Given the description of an element on the screen output the (x, y) to click on. 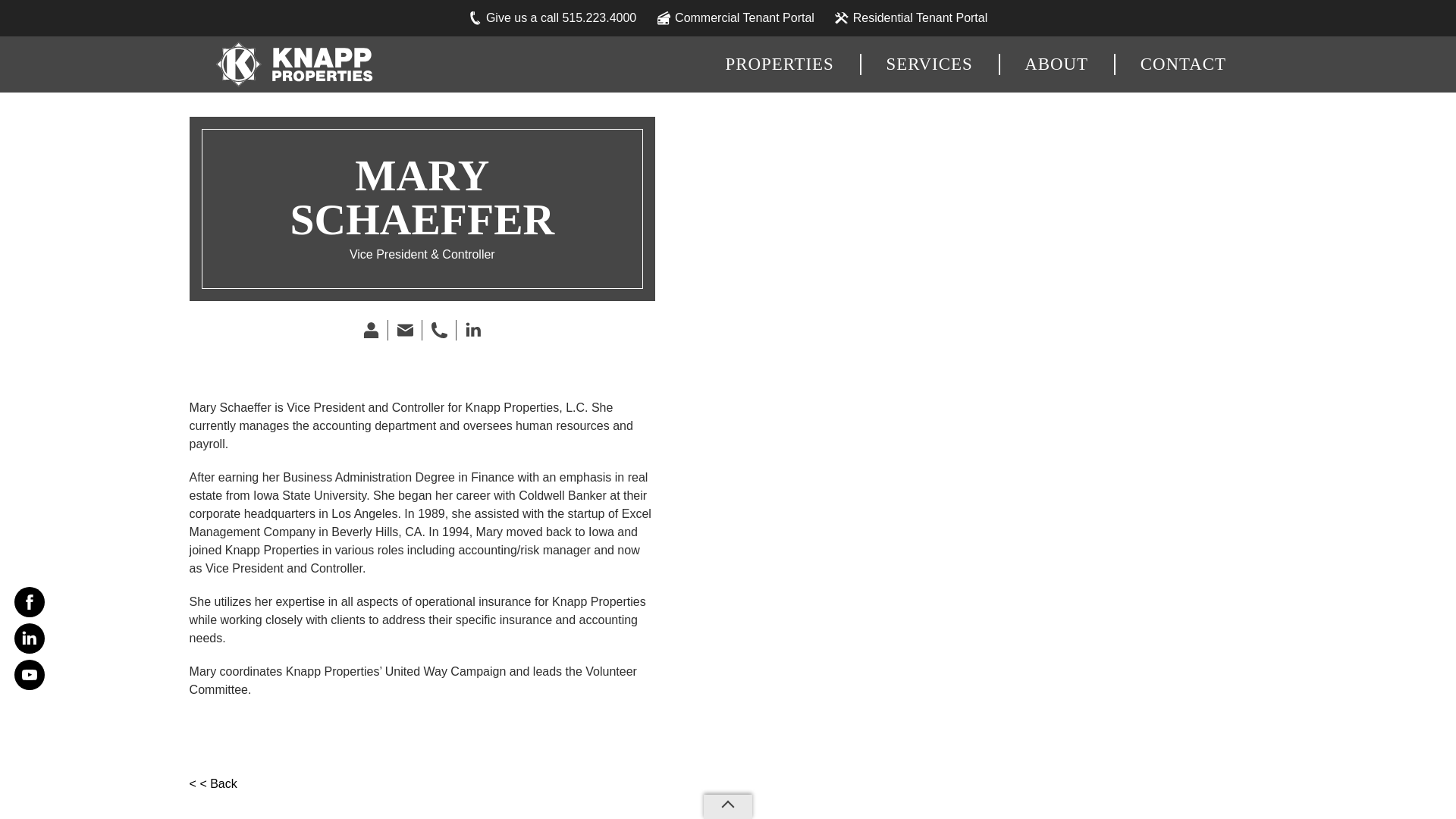
Give us a call 515.223.4000 (552, 18)
Residential Tenant Portal (911, 18)
Commercial Tenant Portal (735, 18)
Knapp Properties. Link to homepage (290, 63)
